Given the description of an element on the screen output the (x, y) to click on. 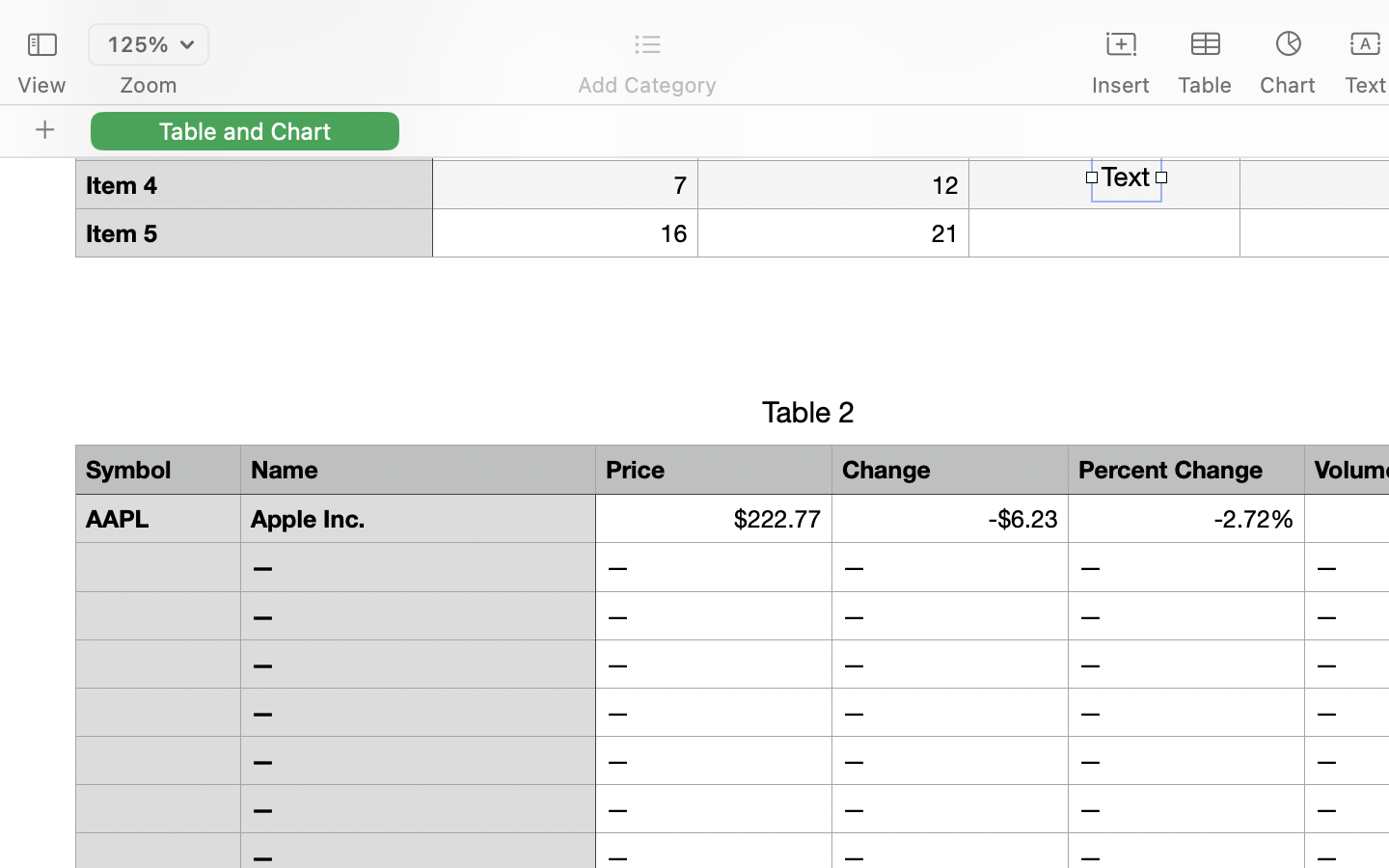
Add Category Element type: AXStaticText (646, 84)
View Element type: AXStaticText (41, 84)
